Given the description of an element on the screen output the (x, y) to click on. 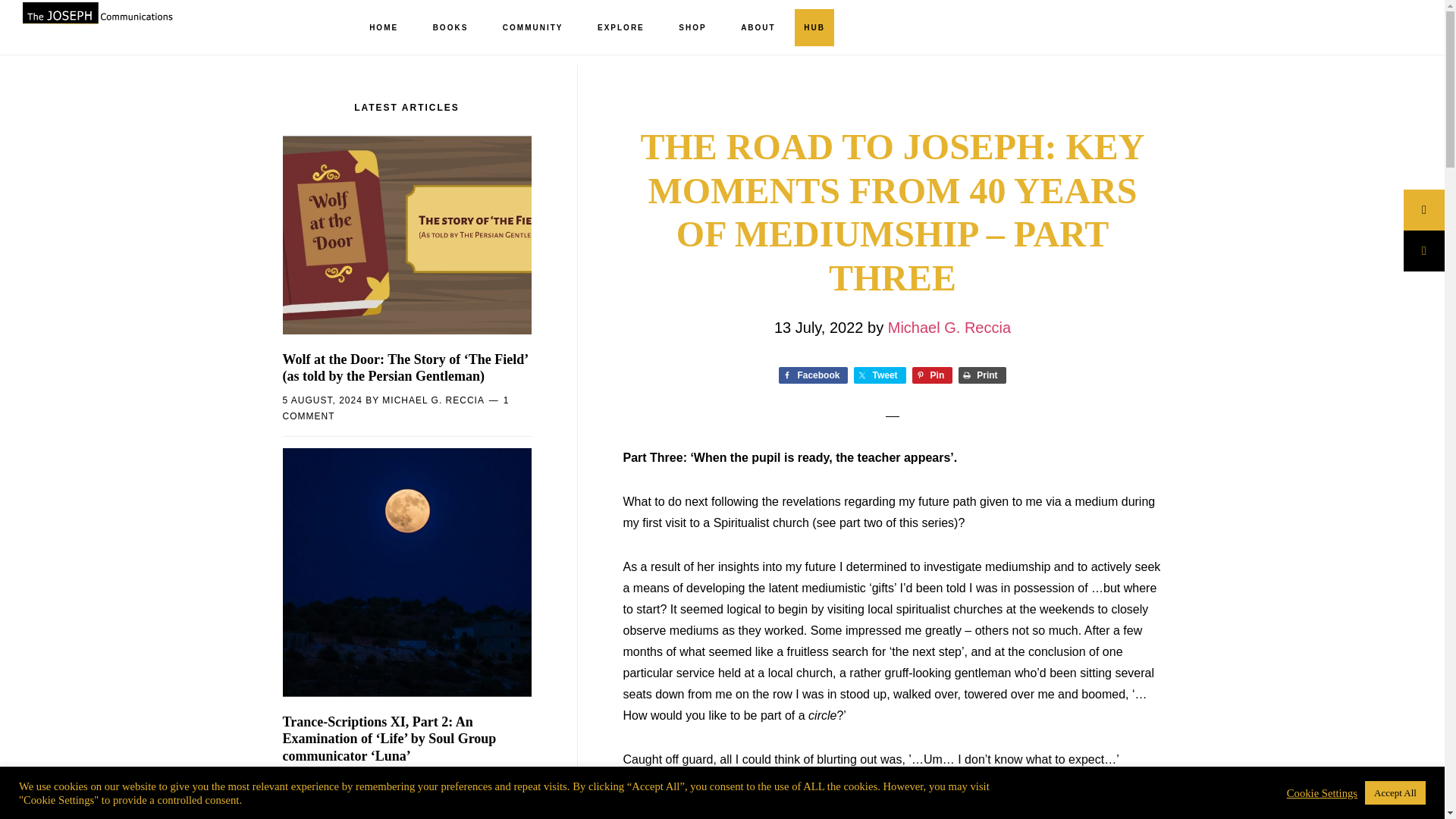
HOME (383, 27)
BOOKS (450, 27)
COMMUNITY (532, 27)
SHOP (691, 27)
ABOUT (757, 27)
Share on Facebook (812, 375)
Share on Pinterest (932, 375)
EXPLORE (620, 27)
Print this Page (982, 375)
Share on Twitter (879, 375)
